Given the description of an element on the screen output the (x, y) to click on. 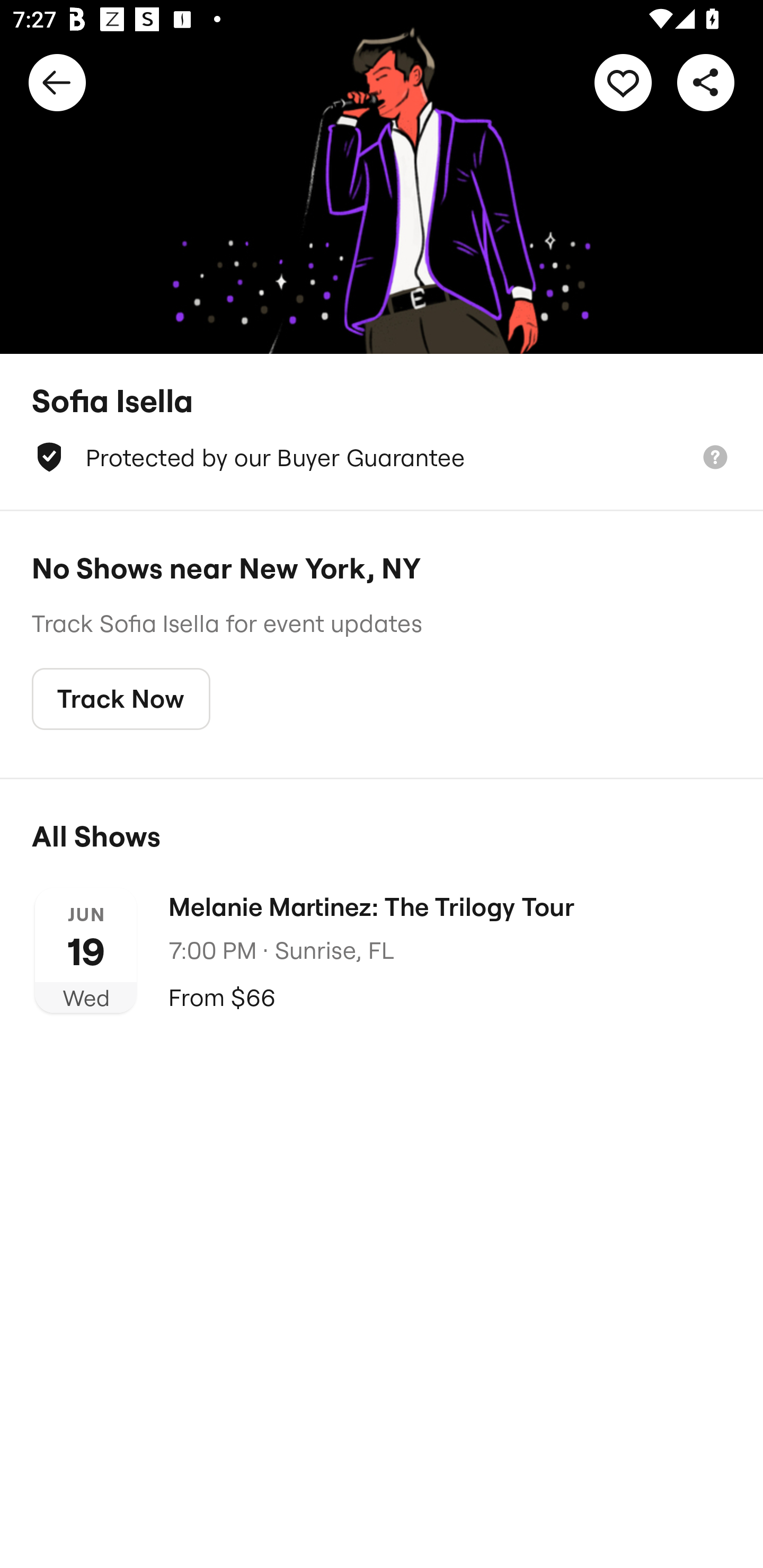
Back (57, 81)
Track this performer (623, 81)
Share this performer (705, 81)
Protected by our Buyer Guarantee Learn more (381, 456)
Track Now (121, 699)
